Given the description of an element on the screen output the (x, y) to click on. 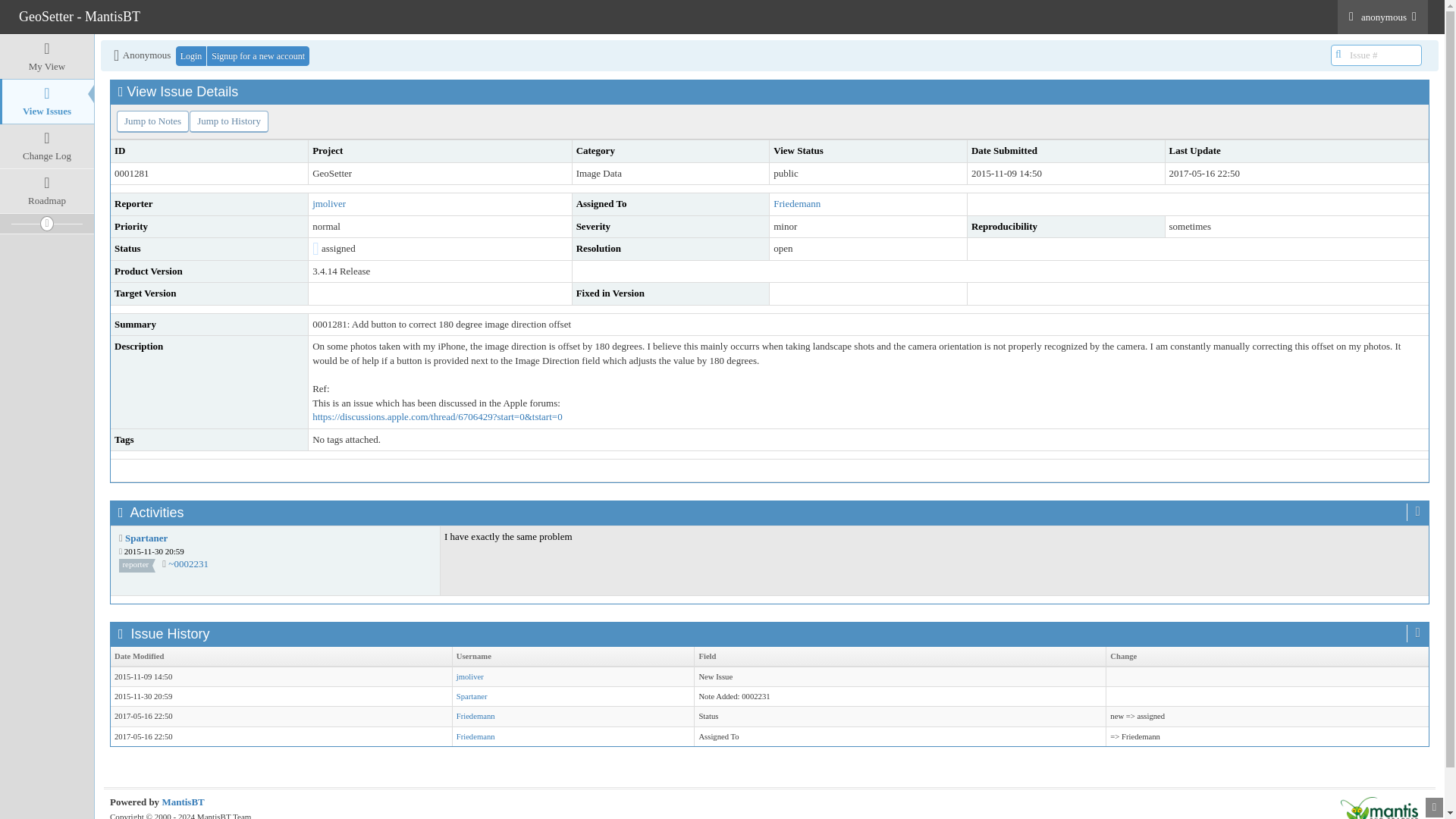
My View (47, 56)
jmoliver (329, 203)
Login (191, 55)
Spartaner (472, 696)
Change Log (47, 146)
Jump to Notes (152, 121)
Spartaner (146, 537)
Direct link to note (188, 563)
Jump to History (228, 121)
